Given the description of an element on the screen output the (x, y) to click on. 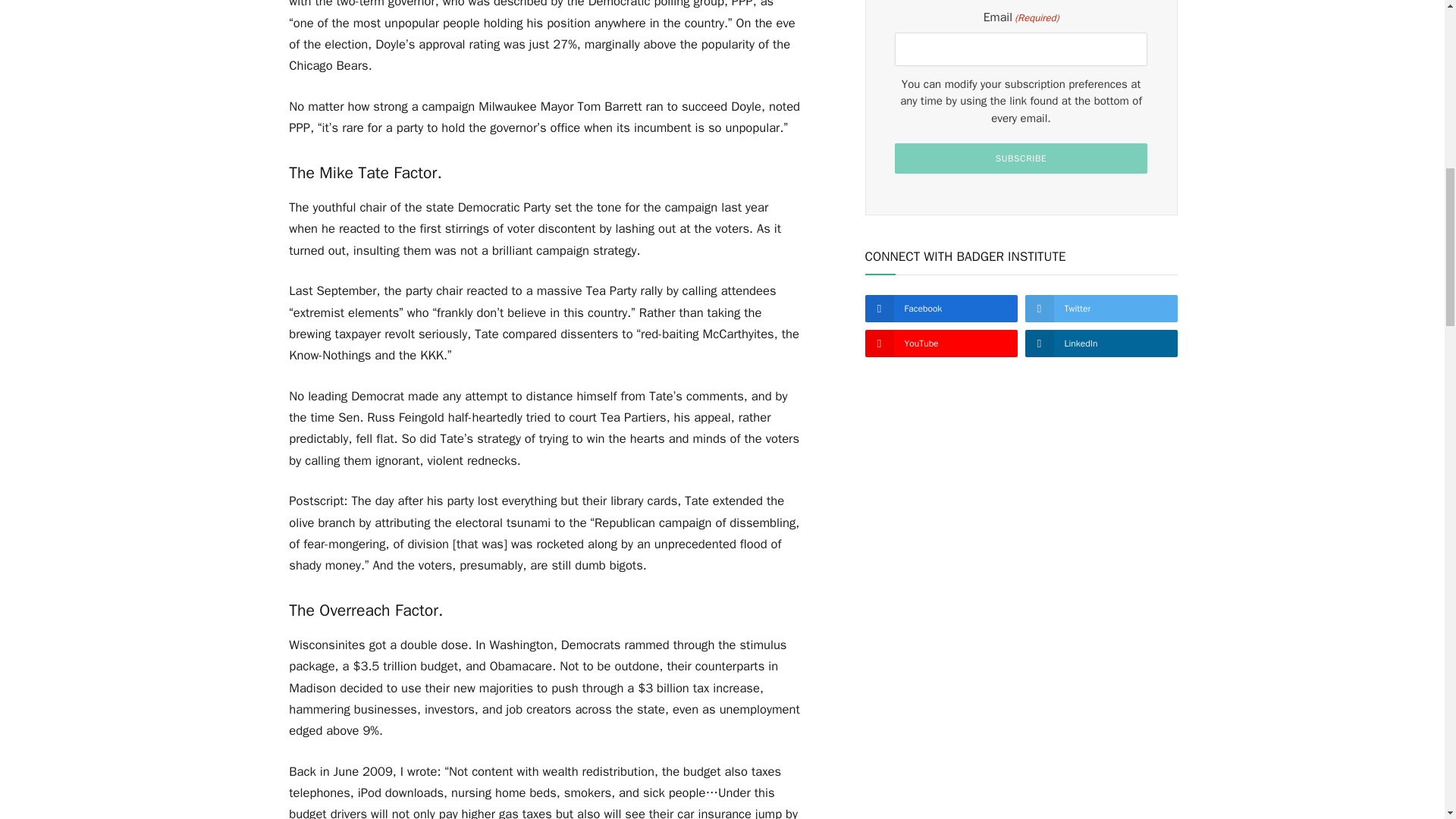
Subscribe (1021, 158)
